Given the description of an element on the screen output the (x, y) to click on. 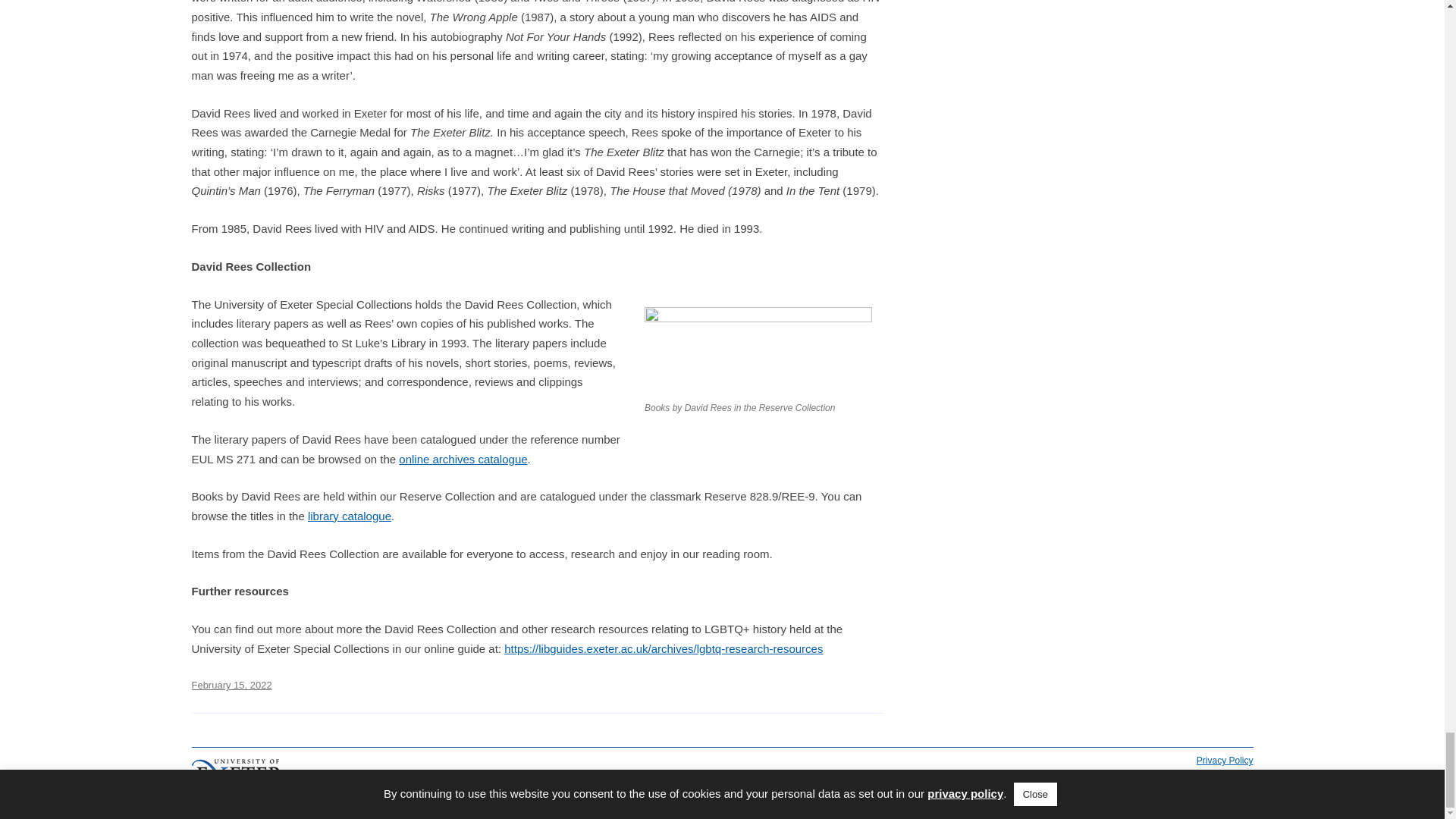
online archives catalogue (462, 459)
February 15, 2022 (230, 685)
University of Exeter (236, 777)
10:30 am (230, 685)
library catalogue (349, 515)
